Given the description of an element on the screen output the (x, y) to click on. 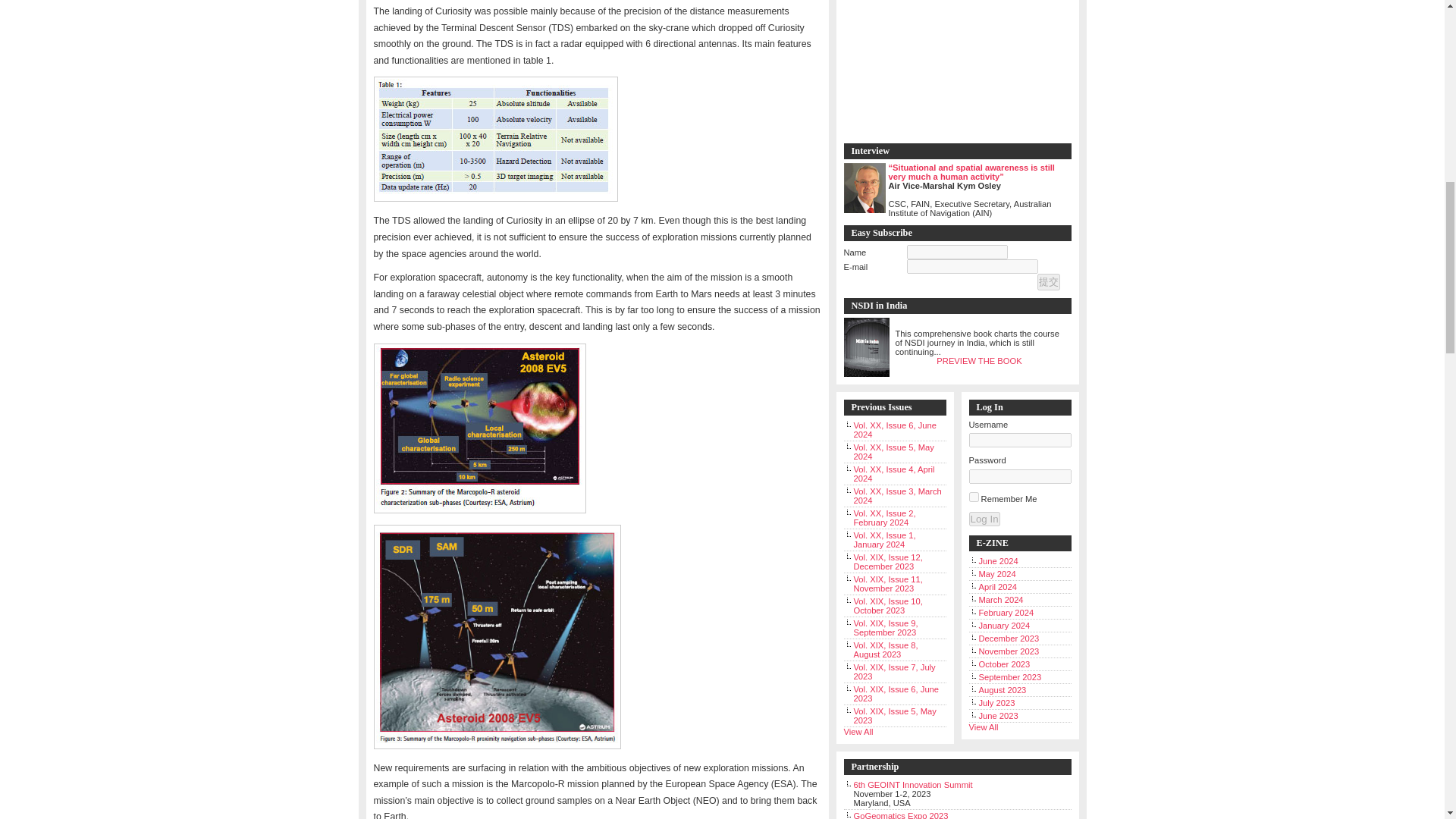
r1 (496, 636)
forever (973, 497)
r1 (494, 138)
r1 (478, 428)
